Given the description of an element on the screen output the (x, y) to click on. 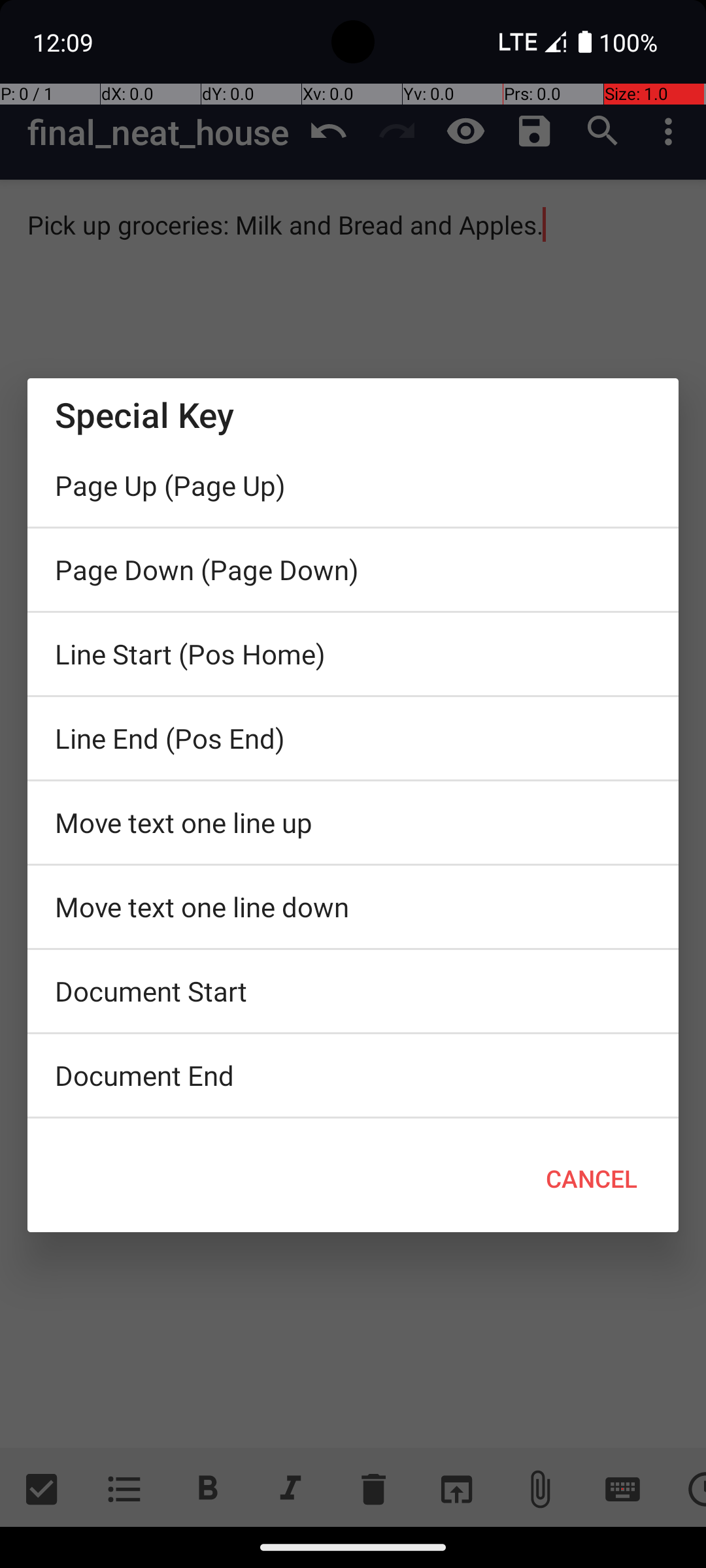
12:09 Element type: android.widget.TextView (64, 41)
